Given the description of an element on the screen output the (x, y) to click on. 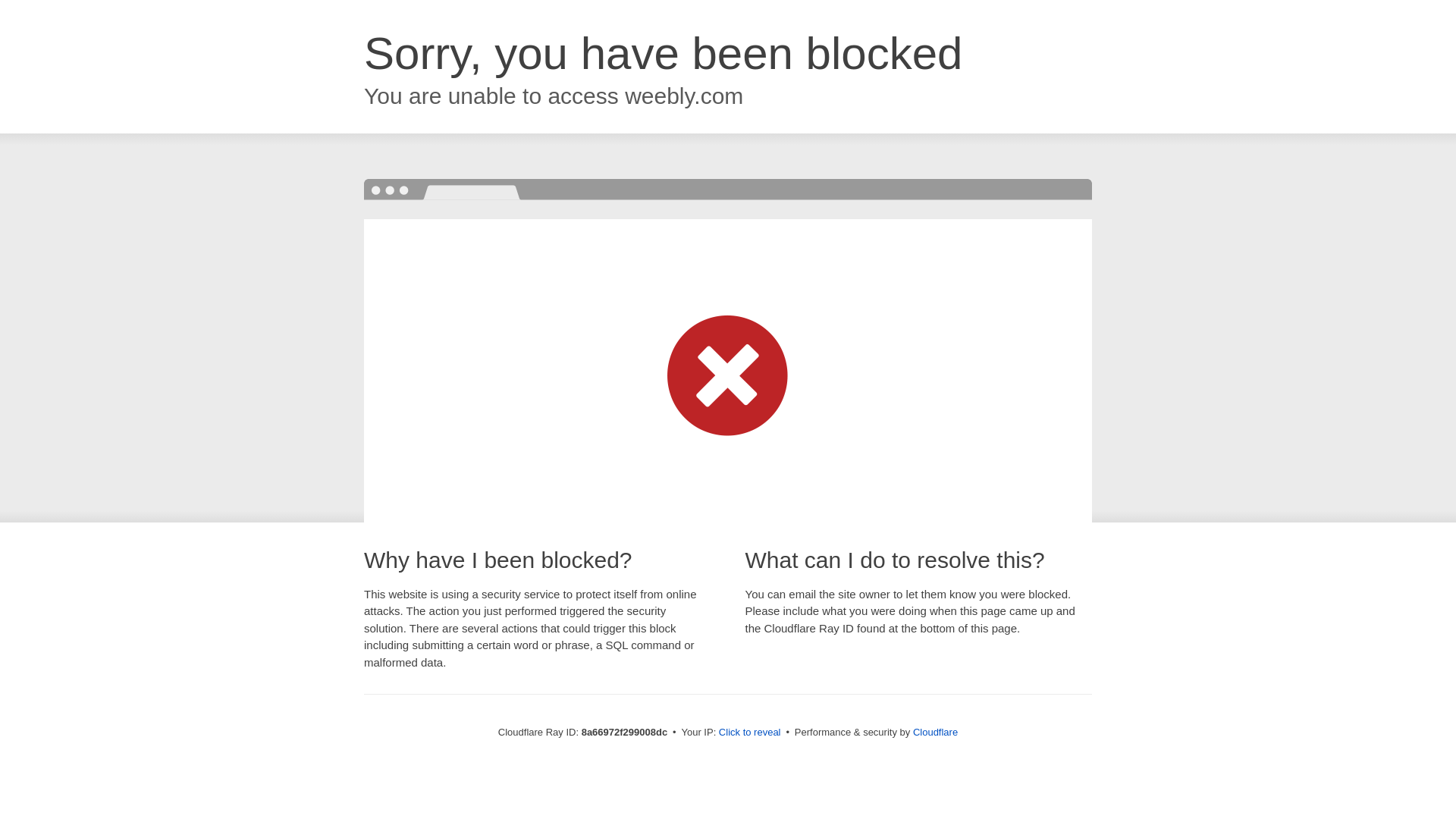
Cloudflare (935, 731)
Click to reveal (749, 732)
